Given the description of an element on the screen output the (x, y) to click on. 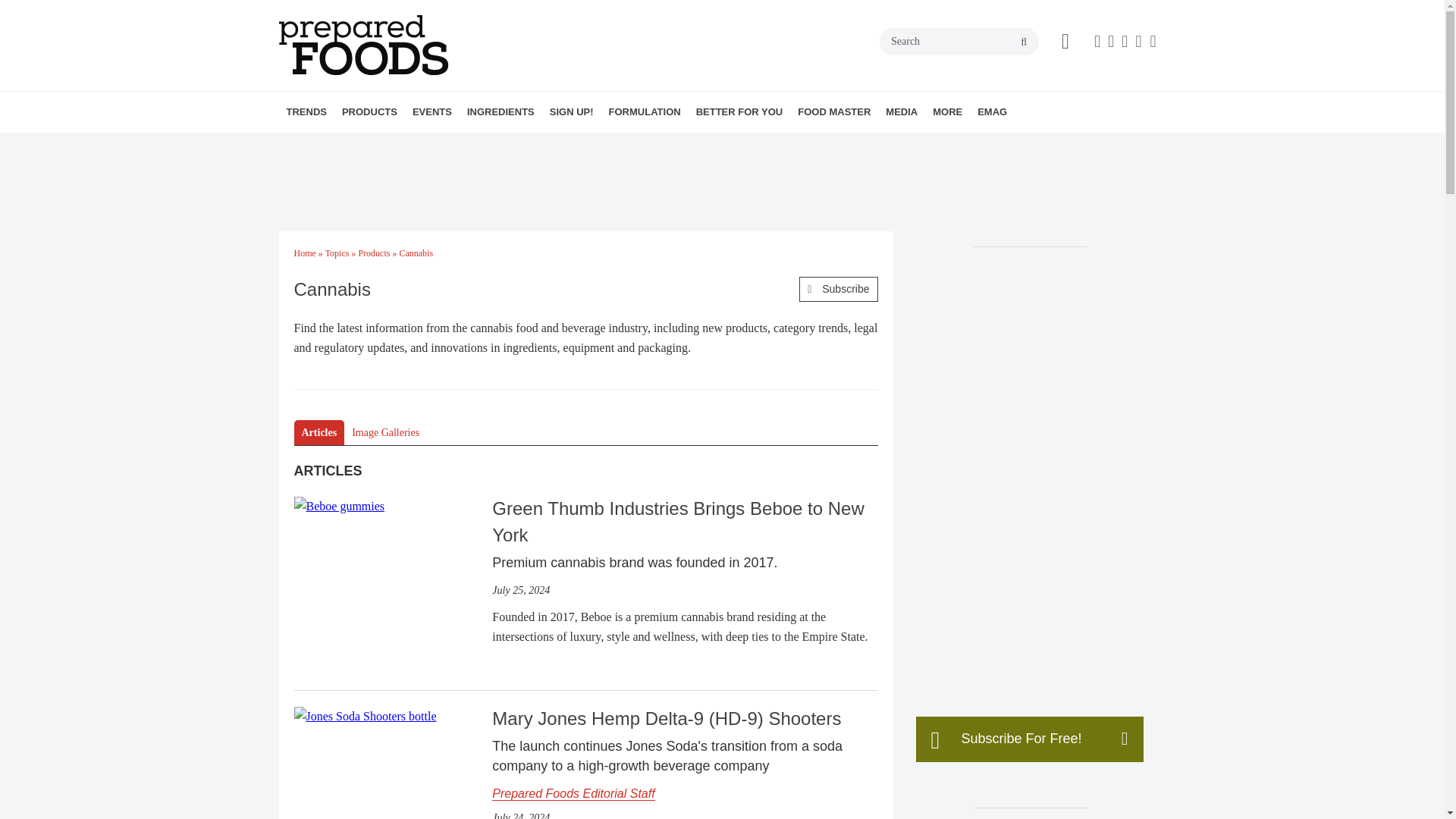
CANNABIS (452, 145)
INGREDIENTS (500, 111)
EVENTS (432, 111)
Beboe gummies (339, 506)
DAIRY (456, 145)
COLORINGS (560, 145)
Search (959, 41)
NEW PRODUCTS CONFERENCE (499, 145)
search (1023, 42)
FEATURED PRODUCTS (474, 145)
Jones Soda Shooters bottle (365, 716)
BEVERAGES (436, 145)
2024 TRENDS (373, 145)
SOUPS (472, 145)
SPIRIT OF INNOVATION AWARDS (506, 145)
